Given the description of an element on the screen output the (x, y) to click on. 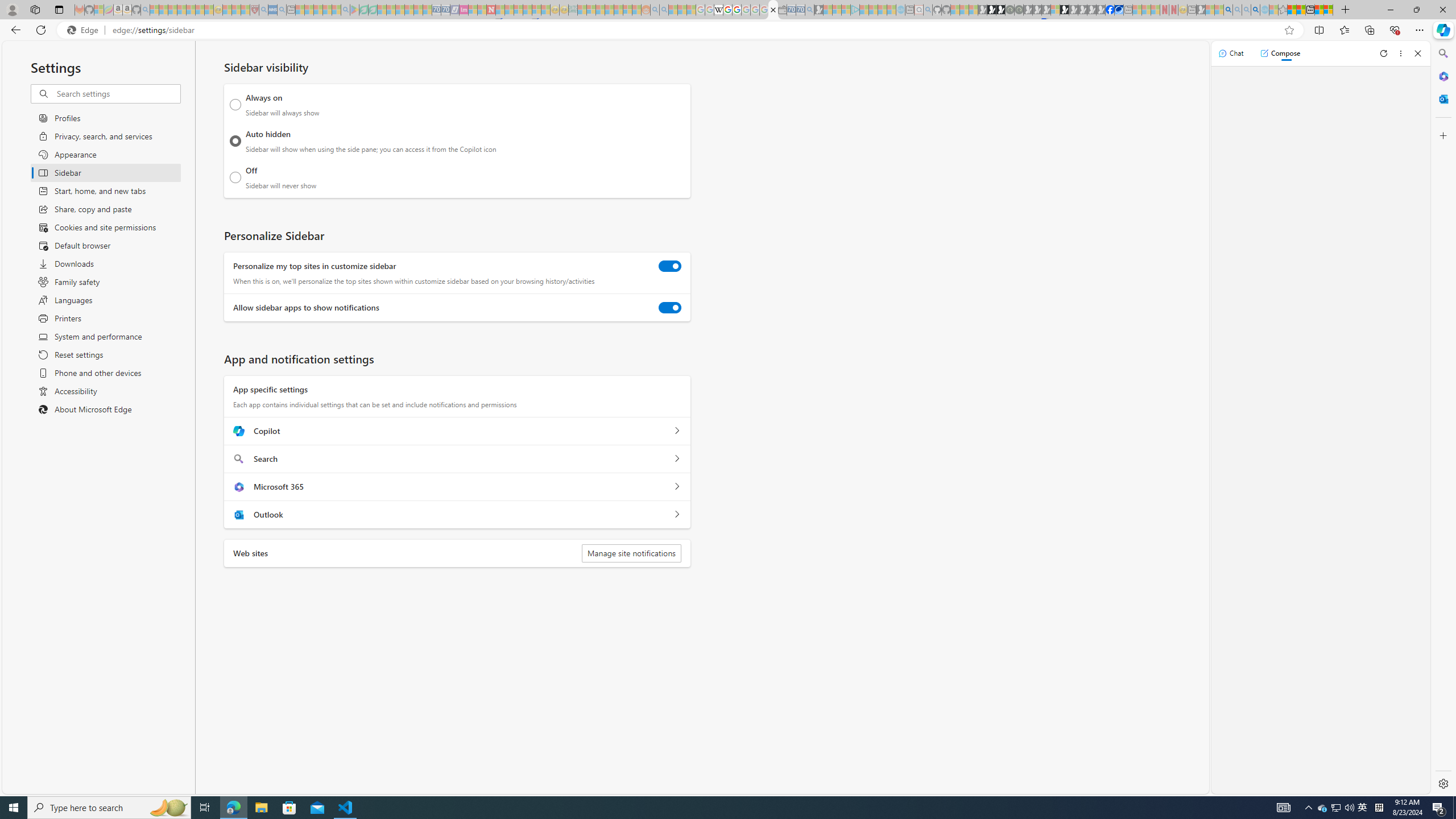
Bluey: Let's Play! - Apps on Google Play - Sleeping (354, 9)
Favorites - Sleeping (1283, 9)
Target page - Wikipedia (718, 9)
